Given the description of an element on the screen output the (x, y) to click on. 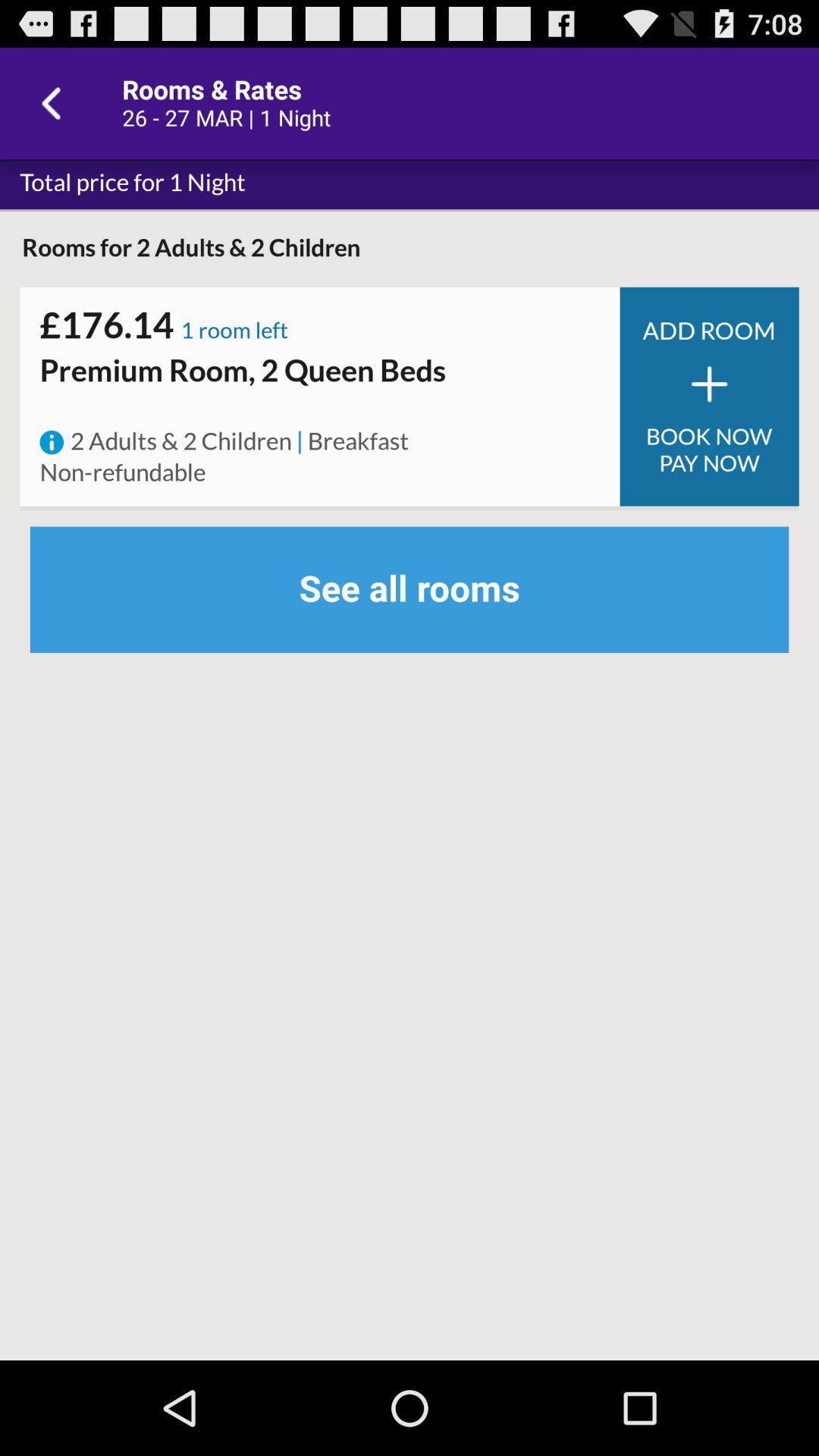
press the item next to the add room icon (234, 331)
